Given the description of an element on the screen output the (x, y) to click on. 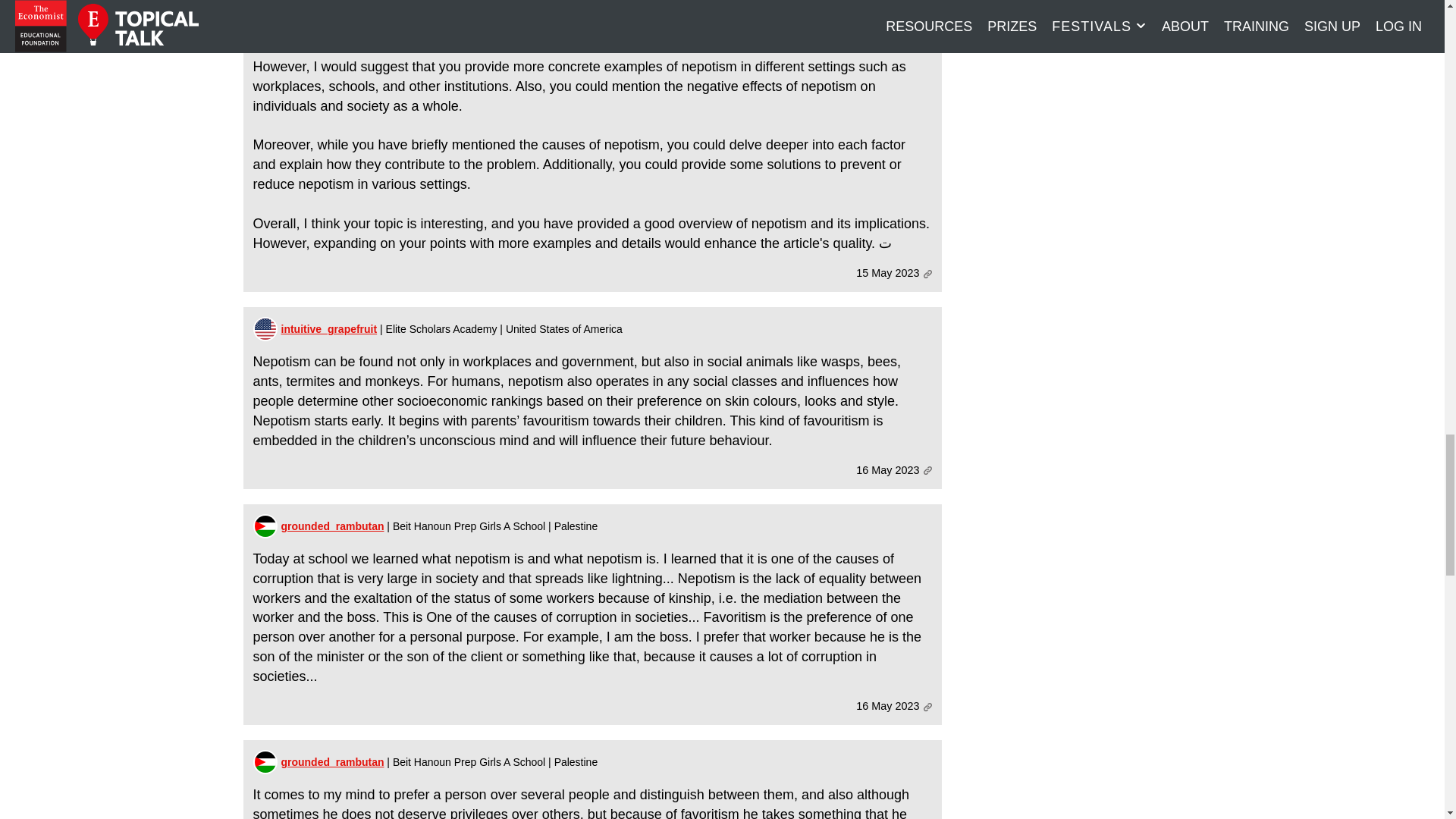
Copy URL to clipboard (927, 470)
Copy URL to clipboard (927, 274)
Copy URL to clipboard (927, 706)
